Given the description of an element on the screen output the (x, y) to click on. 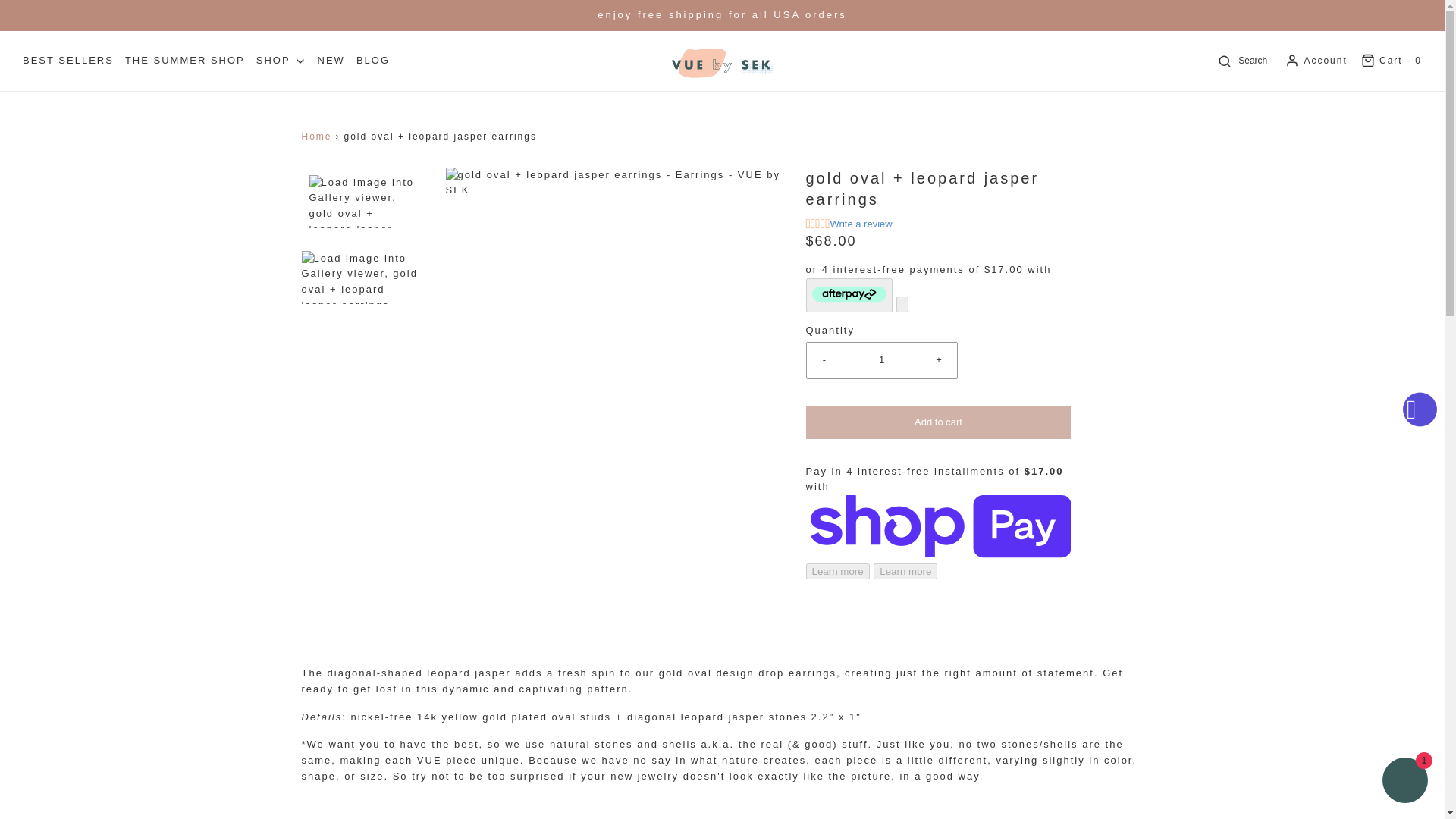
Cart (1390, 60)
NEW (331, 60)
BEST SELLERS (68, 60)
1 (881, 360)
Search (1241, 60)
SHOP (280, 60)
Shopify online store chat (1404, 781)
THE SUMMER SHOP (184, 60)
Log in (1315, 60)
Back to the frontpage (318, 136)
